Given the description of an element on the screen output the (x, y) to click on. 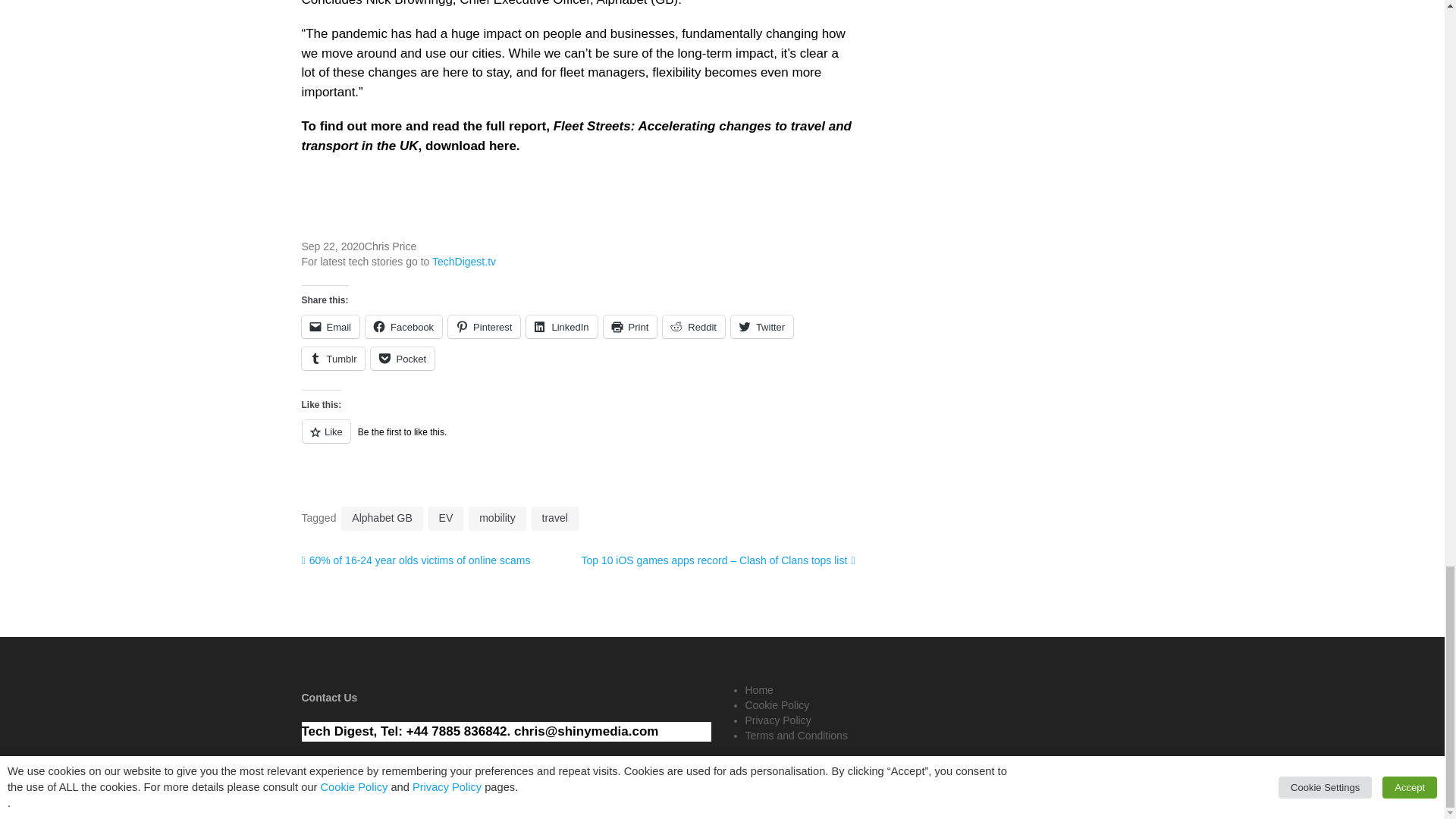
Click to share on Facebook (403, 326)
Click to share on LinkedIn (560, 326)
Click to share on Pinterest (483, 326)
Click to print (631, 326)
Click to share on Reddit (693, 326)
Click to share on Twitter (761, 326)
Click to email a link to a friend (330, 326)
